Given the description of an element on the screen output the (x, y) to click on. 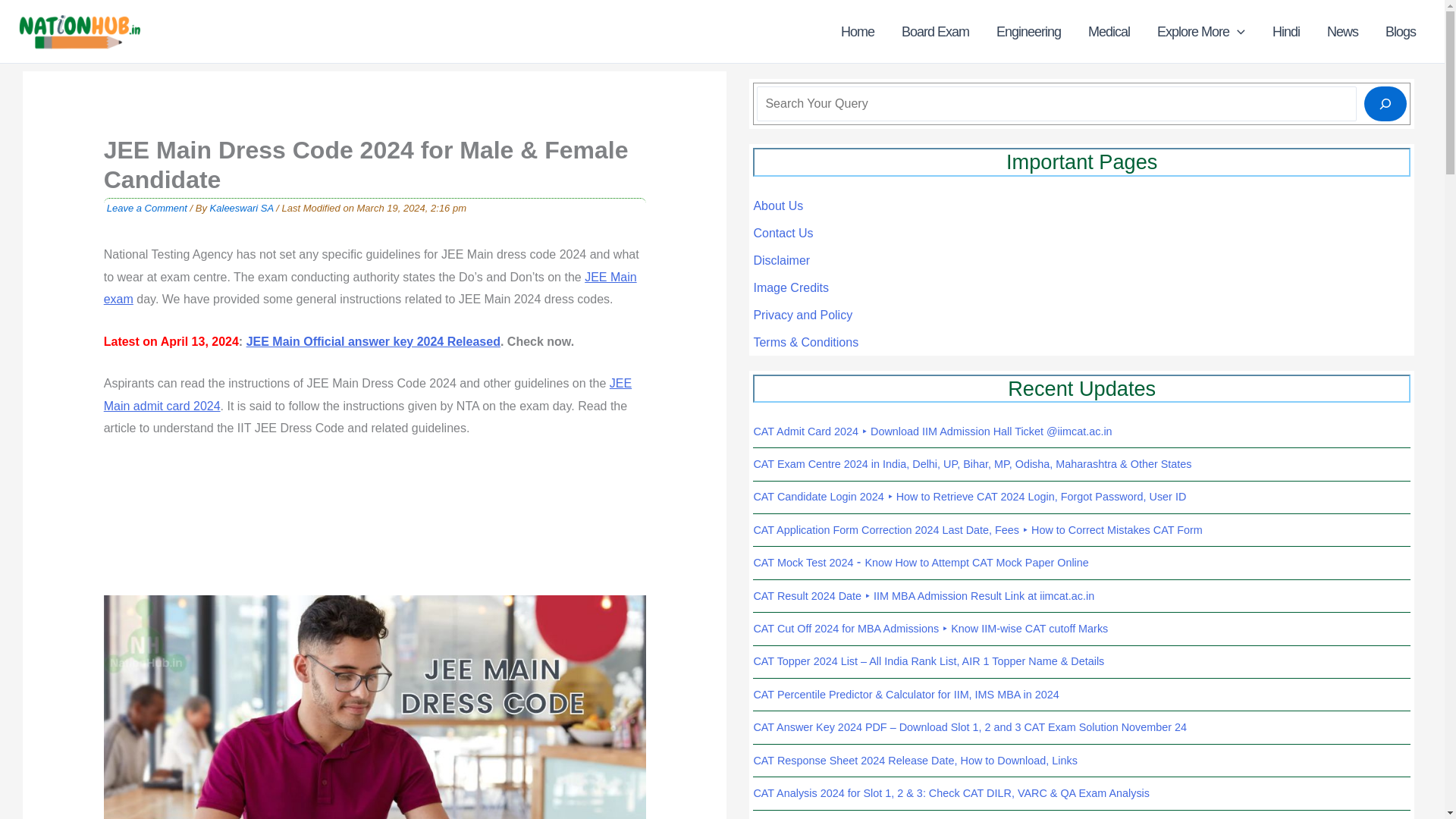
JEE Main Official answer key 2024 Released (373, 341)
Blogs (1400, 31)
View all posts by Kaleeswari SA (242, 207)
Board Exam (935, 31)
Leave a Comment (146, 207)
News (1342, 31)
Hindi (1286, 31)
Kaleeswari SA (242, 207)
Engineering (1028, 31)
Explore More (1200, 31)
Home (857, 31)
JEE Main exam (370, 288)
Medical (1108, 31)
Advertisement (374, 527)
